Given the description of an element on the screen output the (x, y) to click on. 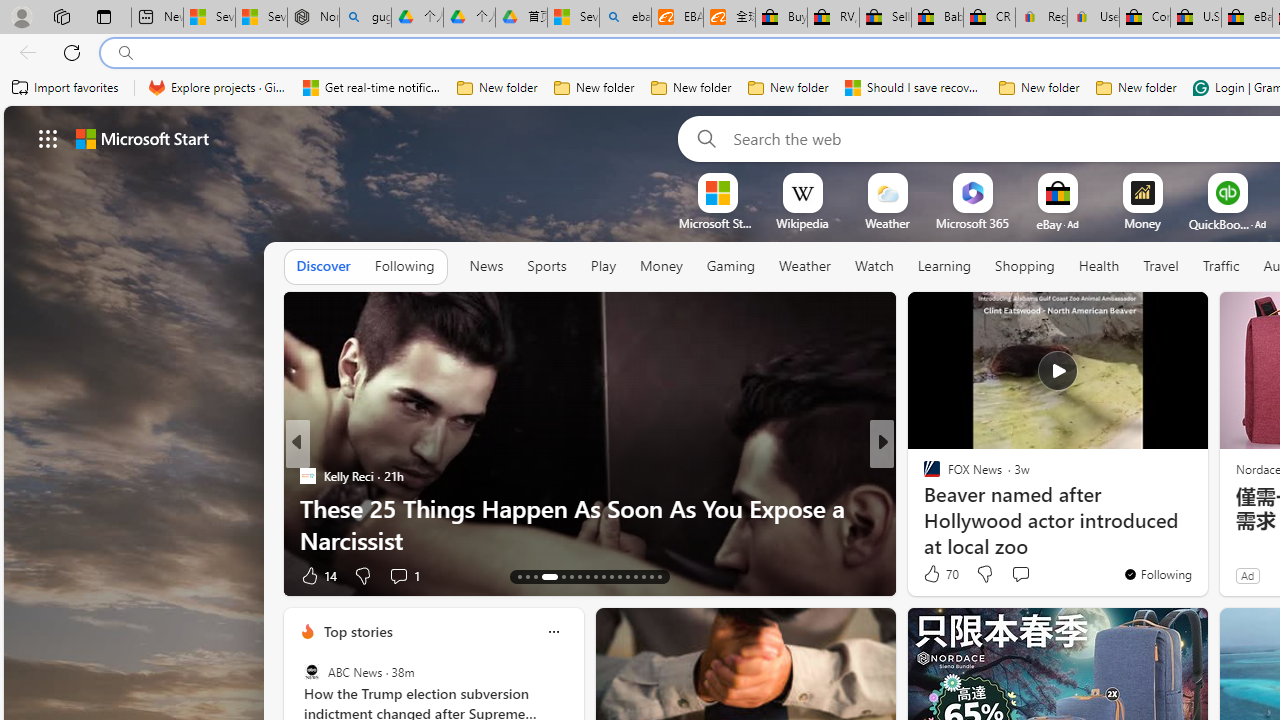
70 Like (939, 574)
View comments 123 Comment (1013, 575)
Lifewire (923, 507)
59 Like (317, 574)
Tom's Guide (307, 475)
AutomationID: tab-25 (627, 576)
AutomationID: tab-15 (535, 576)
1k Like (933, 574)
315 Like (936, 574)
